Given the description of an element on the screen output the (x, y) to click on. 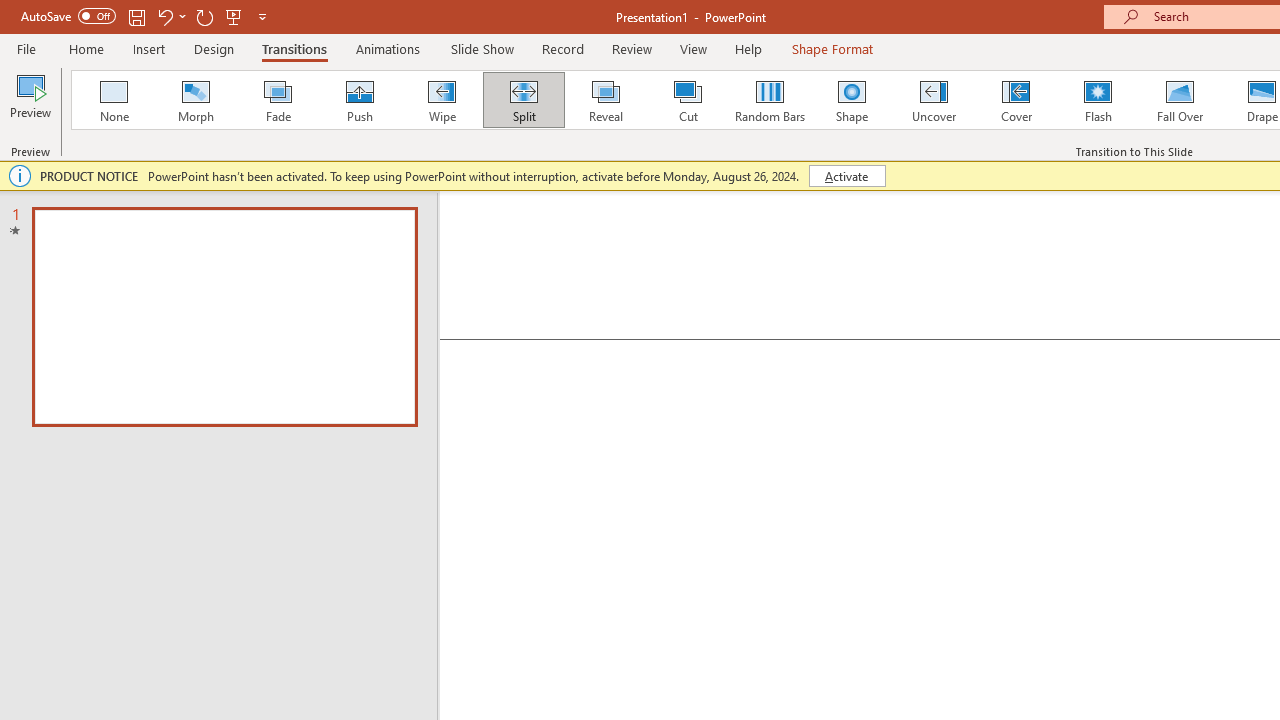
Split (523, 100)
Random Bars (770, 100)
Activate (846, 175)
Flash (1098, 100)
Reveal (605, 100)
Fall Over (1180, 100)
Push (359, 100)
